Given the description of an element on the screen output the (x, y) to click on. 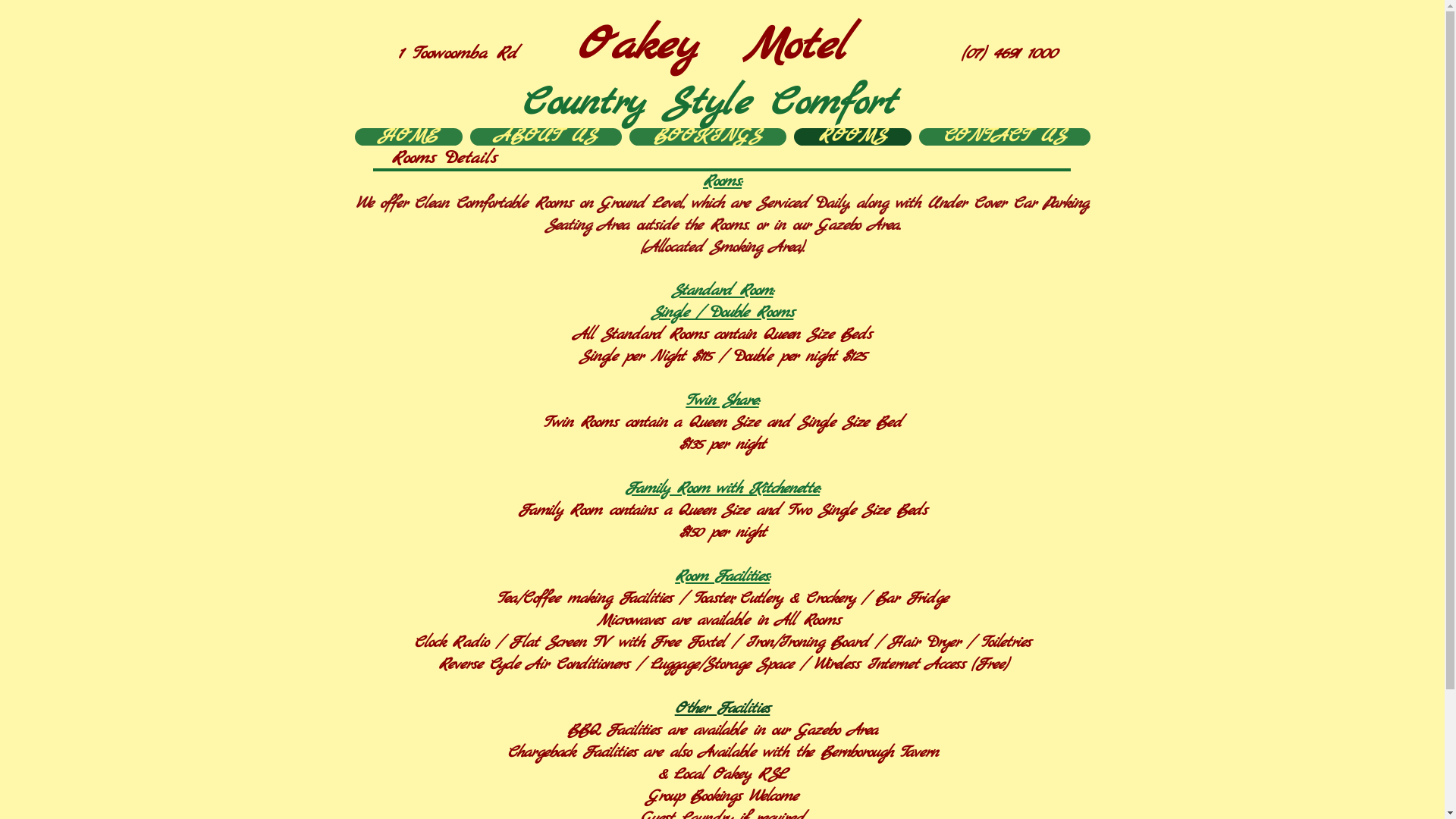
HOME Element type: text (408, 136)
Oakey Element type: text (636, 46)
ROOMS Element type: text (851, 136)
CONTACT US Element type: text (1004, 136)
BOOKINGS Element type: text (707, 136)
ABOUT US Element type: text (545, 136)
